Given the description of an element on the screen output the (x, y) to click on. 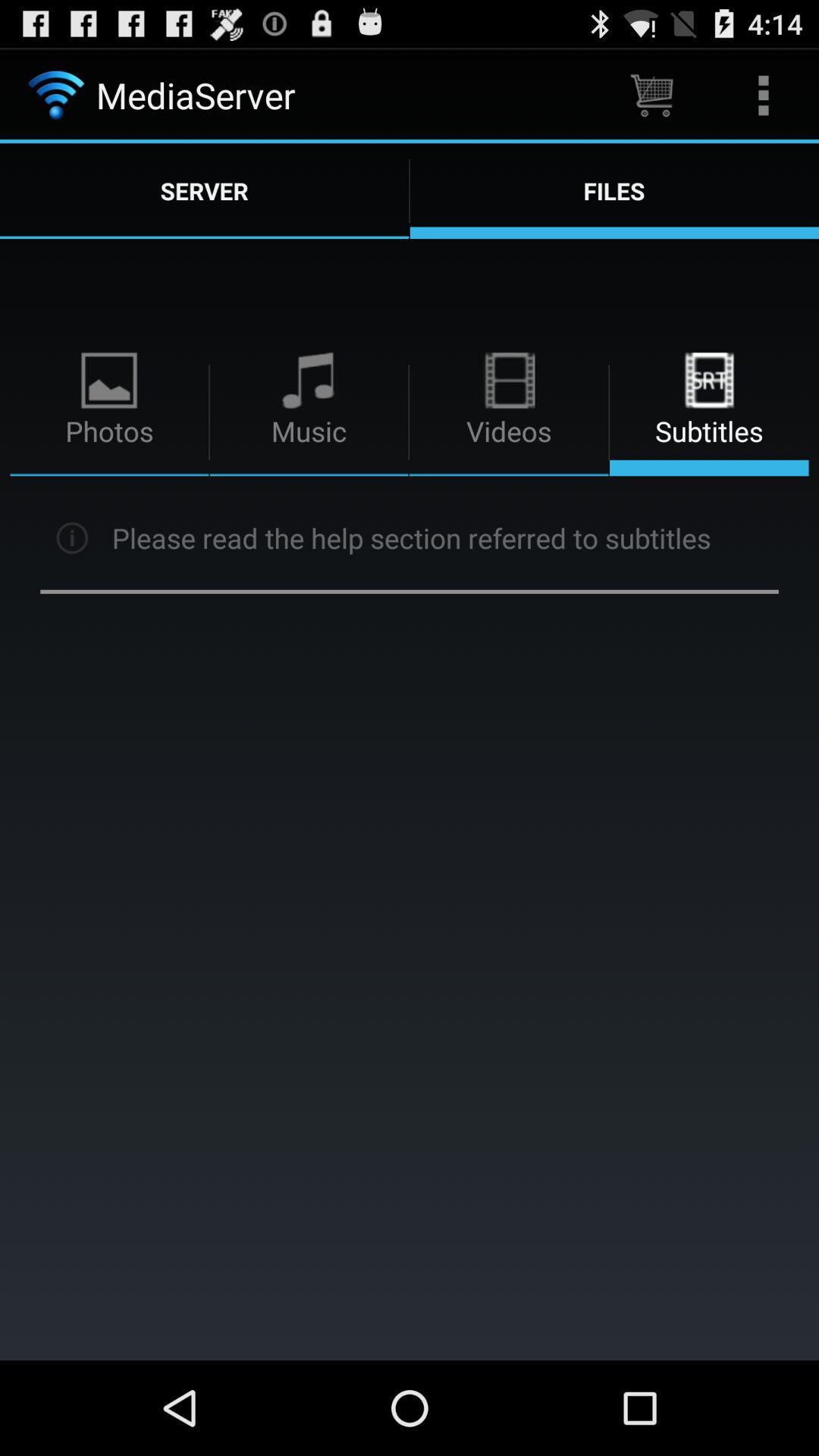
select the cart symbol which is before the menu icon (651, 95)
click on music (308, 412)
click on subtitles icon (709, 380)
select option photos on page (109, 412)
select option videos on page (509, 412)
